Given the description of an element on the screen output the (x, y) to click on. 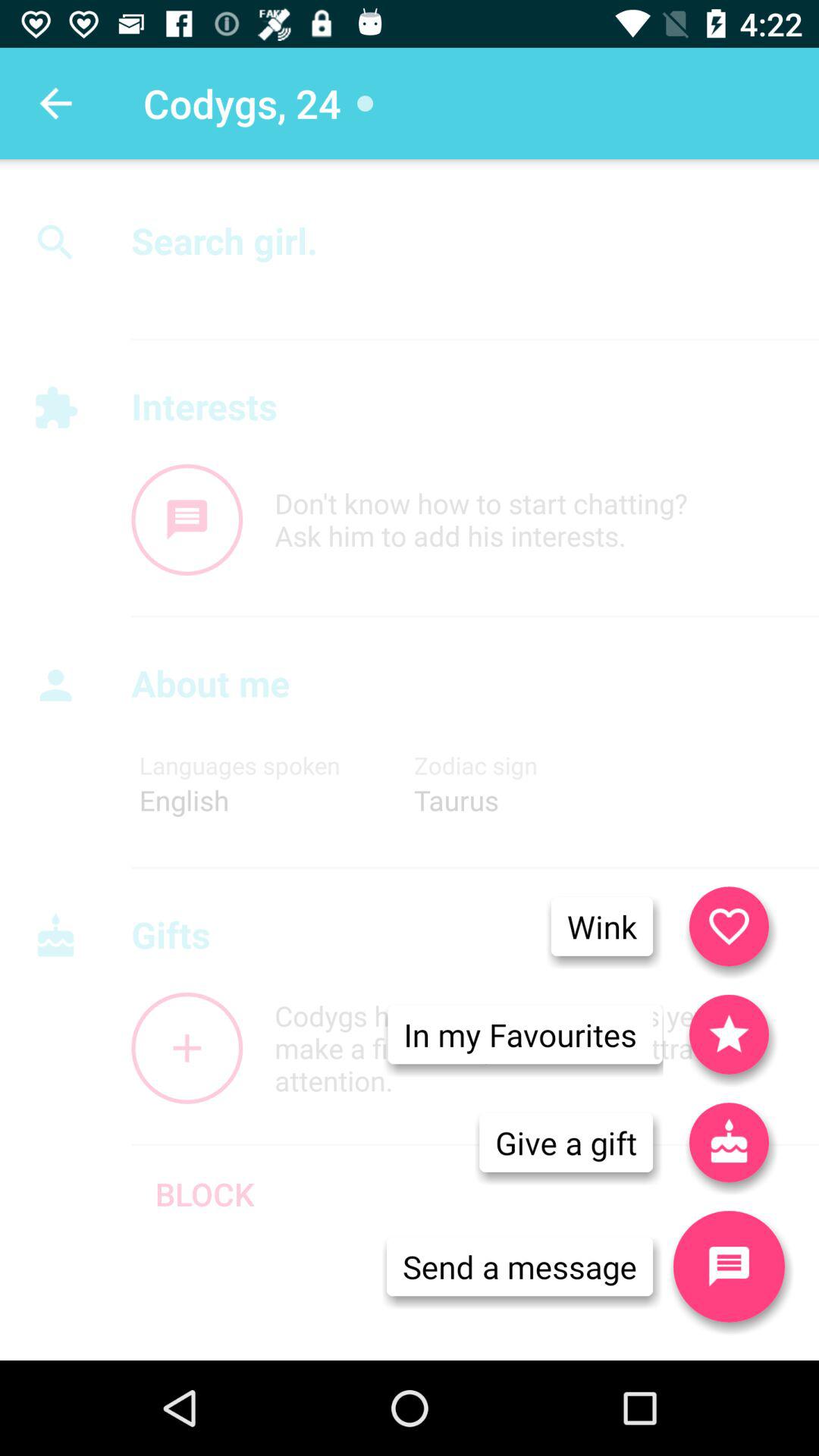
press the item to the right of wink item (729, 926)
